Given the description of an element on the screen output the (x, y) to click on. 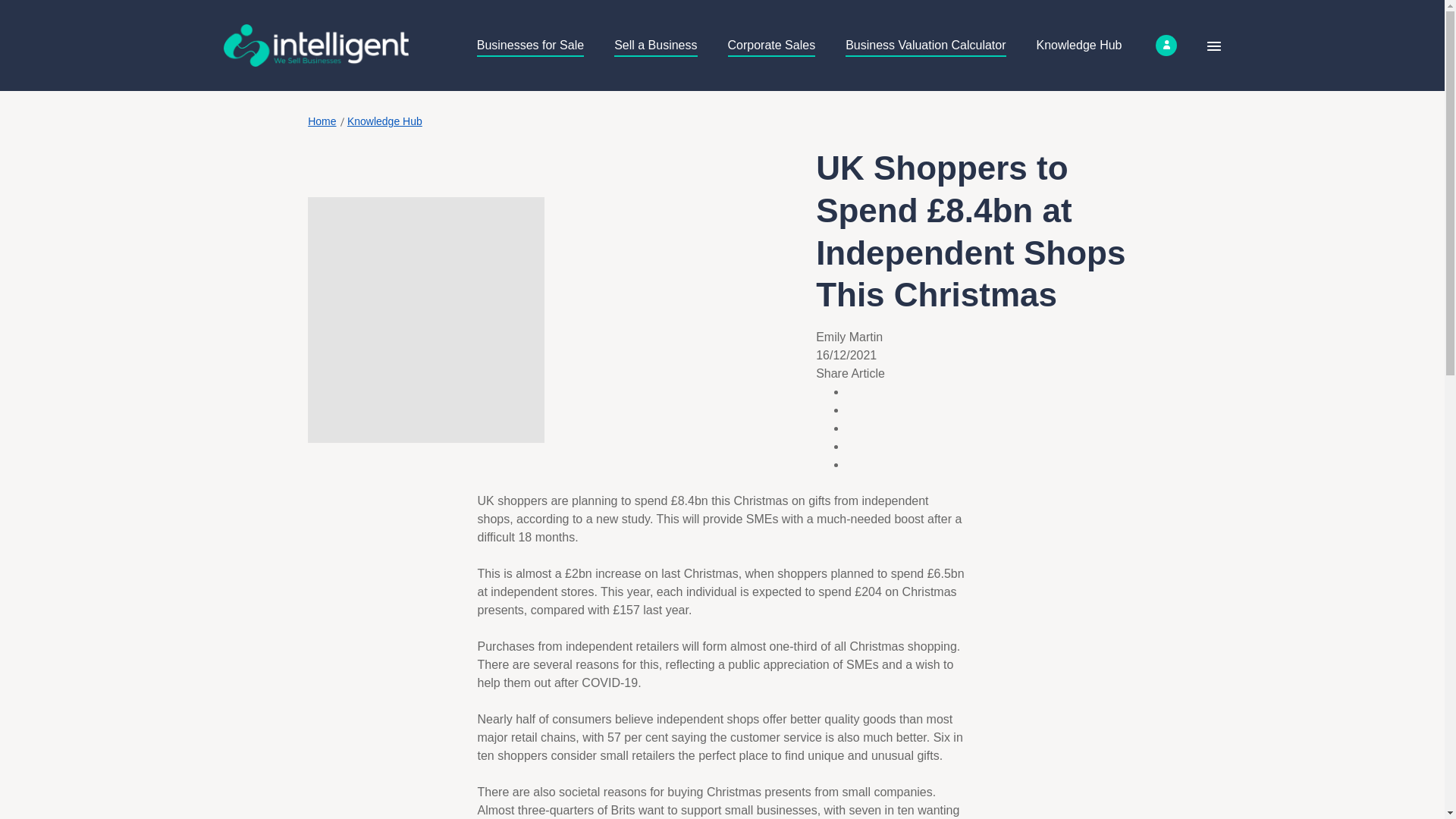
Business Valuation Calculator (925, 45)
Sell a Business (655, 45)
Knowledge Hub (1079, 44)
Businesses for Sale (530, 45)
Home (321, 121)
Corporate Sales (771, 45)
Knowledge Hub (384, 121)
